Given the description of an element on the screen output the (x, y) to click on. 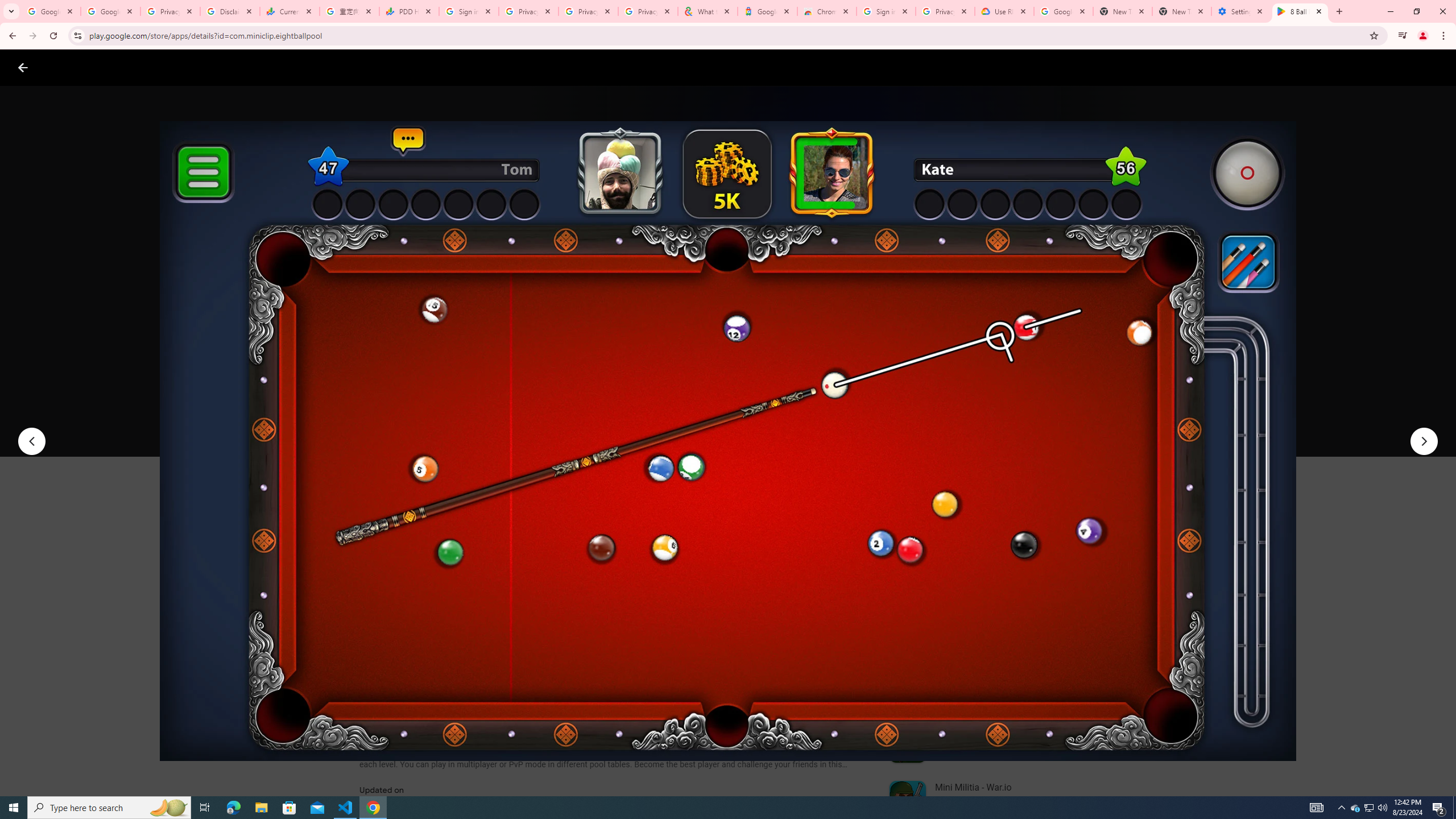
Scroll Next (848, 563)
Expand (978, 497)
PDD Holdings Inc - ADR (PDD) Price & News - Google Finance (409, 11)
Google Workspace Admin Community (50, 11)
